Given the description of an element on the screen output the (x, y) to click on. 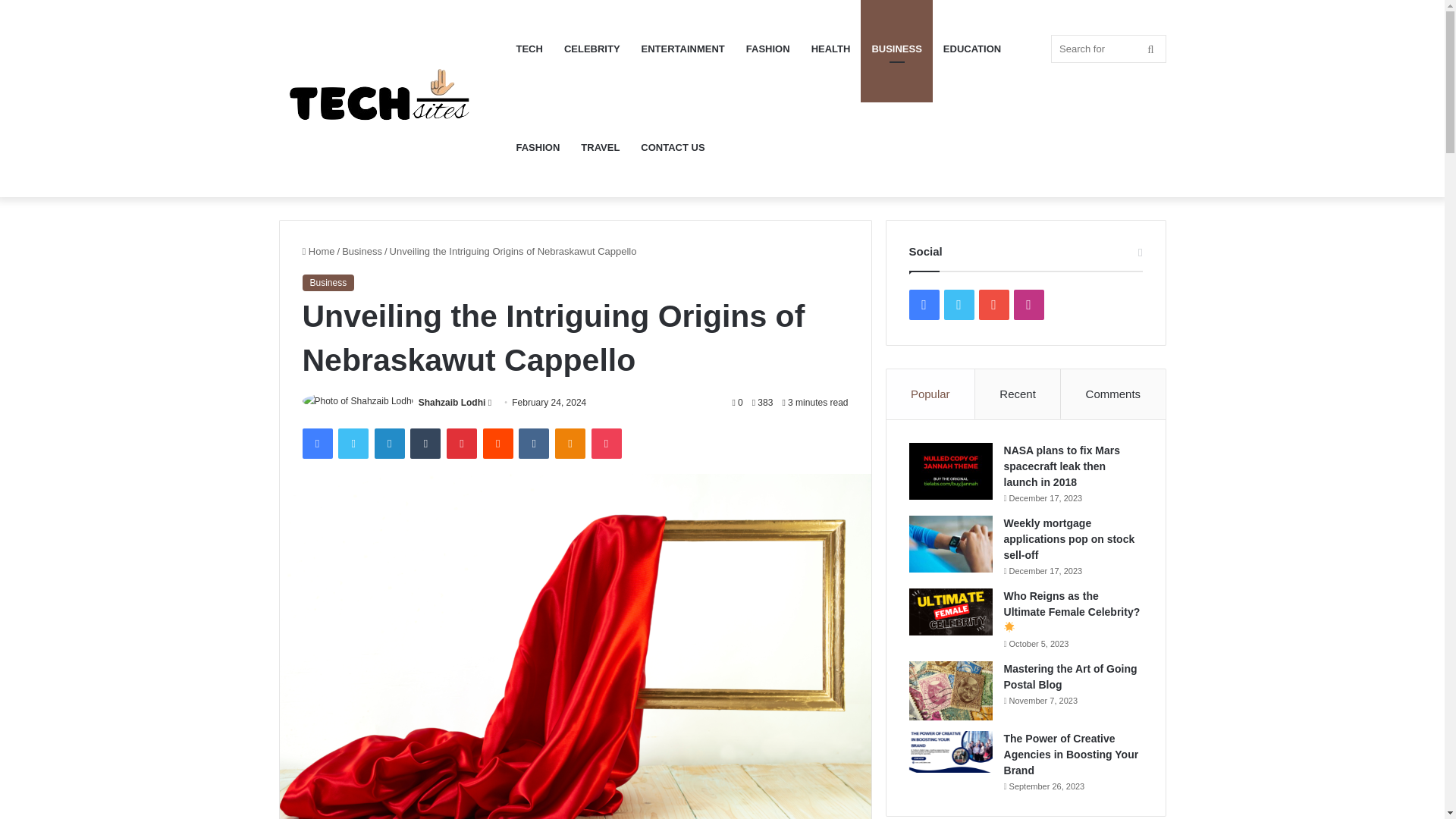
Home (317, 251)
Tech2Sites (392, 98)
Business (327, 282)
LinkedIn (389, 443)
Reddit (498, 443)
LinkedIn (389, 443)
Facebook (316, 443)
Tumblr (425, 443)
Shahzaib Lodhi (452, 402)
Odnoklassniki (569, 443)
Search for (1108, 49)
Pocket (606, 443)
Shahzaib Lodhi (452, 402)
Reddit (498, 443)
Twitter (352, 443)
